Given the description of an element on the screen output the (x, y) to click on. 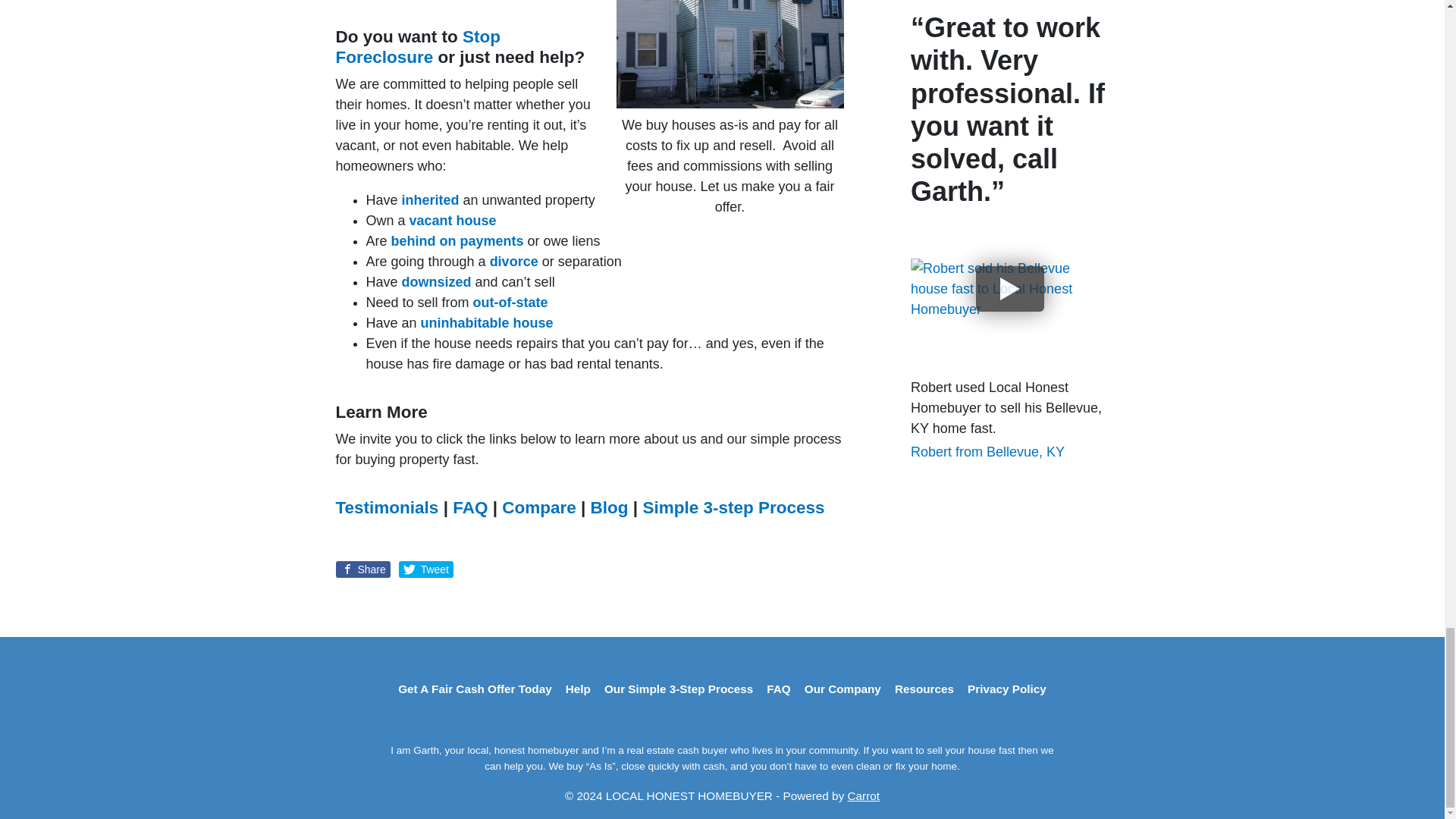
Share on Facebook (362, 569)
out-of-state (510, 302)
Share on Twitter (425, 569)
inherited (430, 200)
divorce (513, 261)
vacant house (452, 220)
behind on payments (457, 240)
Stop Foreclosure (417, 46)
downsized (436, 281)
uninhabitable house (486, 322)
Testimonials (386, 506)
